Given the description of an element on the screen output the (x, y) to click on. 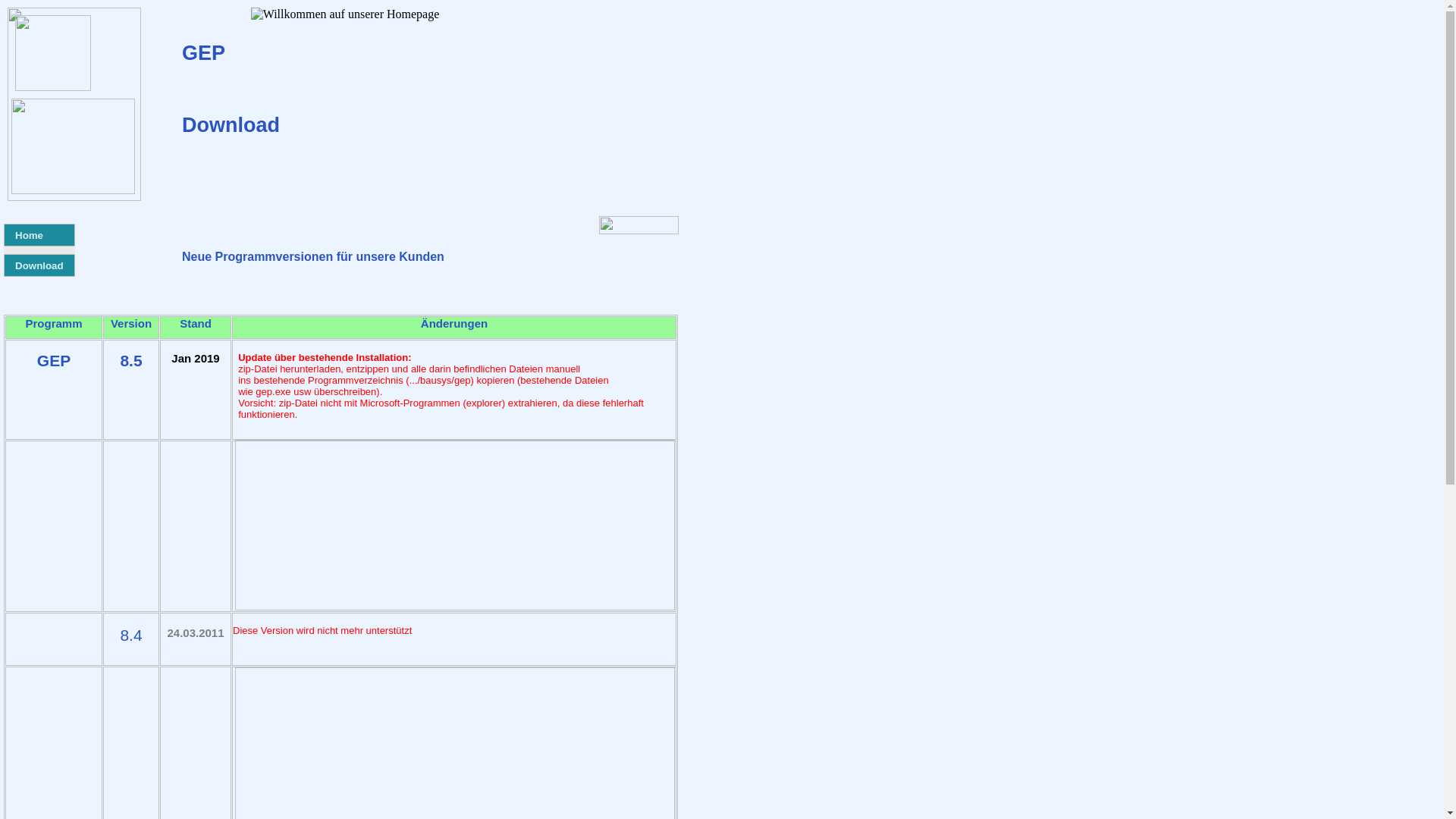
Willkommen auf unserer Homepage Element type: hover (345, 14)
